Given the description of an element on the screen output the (x, y) to click on. 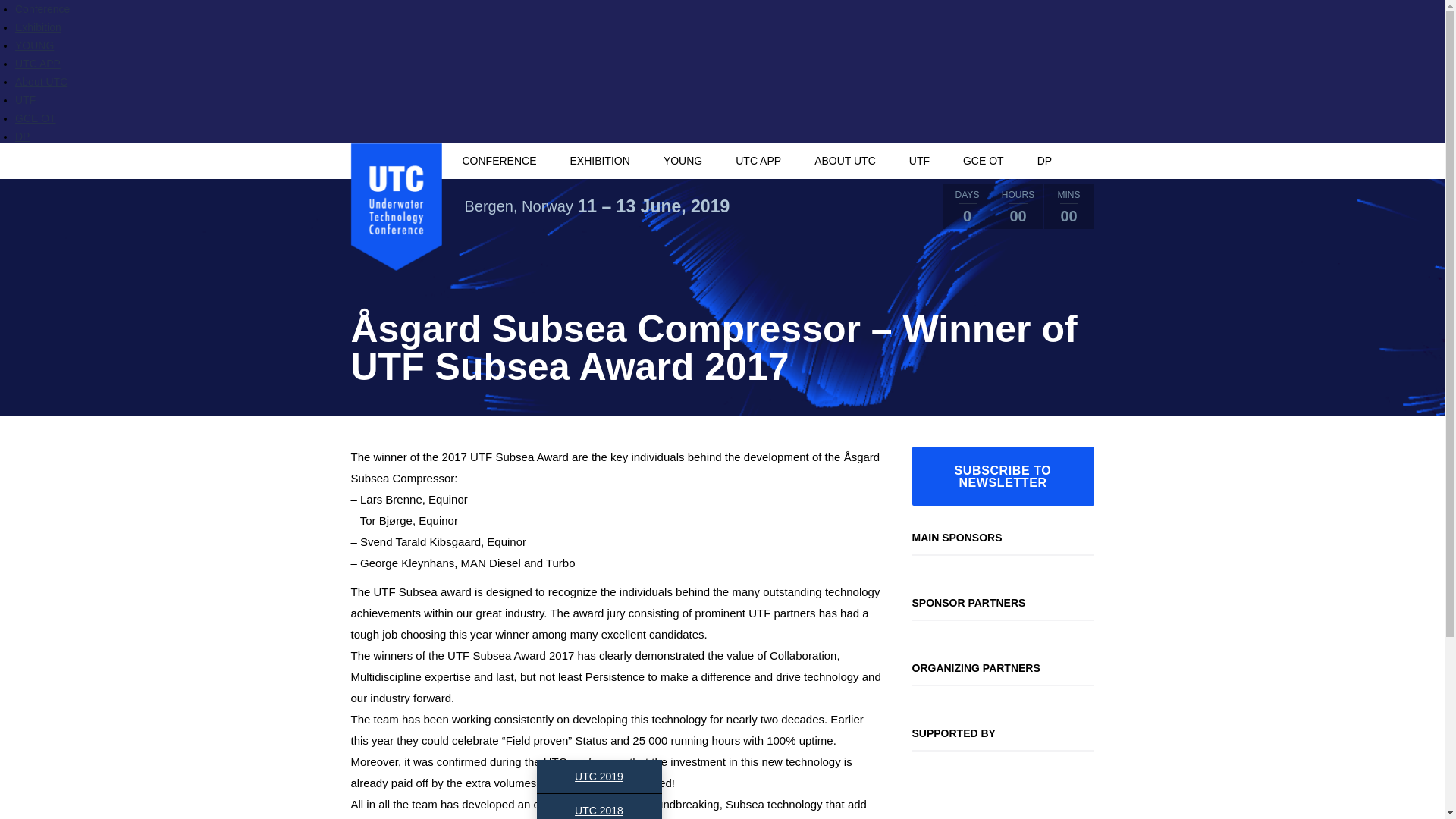
UTC APP (757, 161)
YOUNG (682, 161)
DP (21, 136)
DP (1044, 161)
Conference (41, 9)
UTC 2018 (599, 806)
CONFERENCE (498, 161)
Bergen, Norway (518, 206)
YOUNG (33, 45)
EXHIBITION (600, 161)
